Given the description of an element on the screen output the (x, y) to click on. 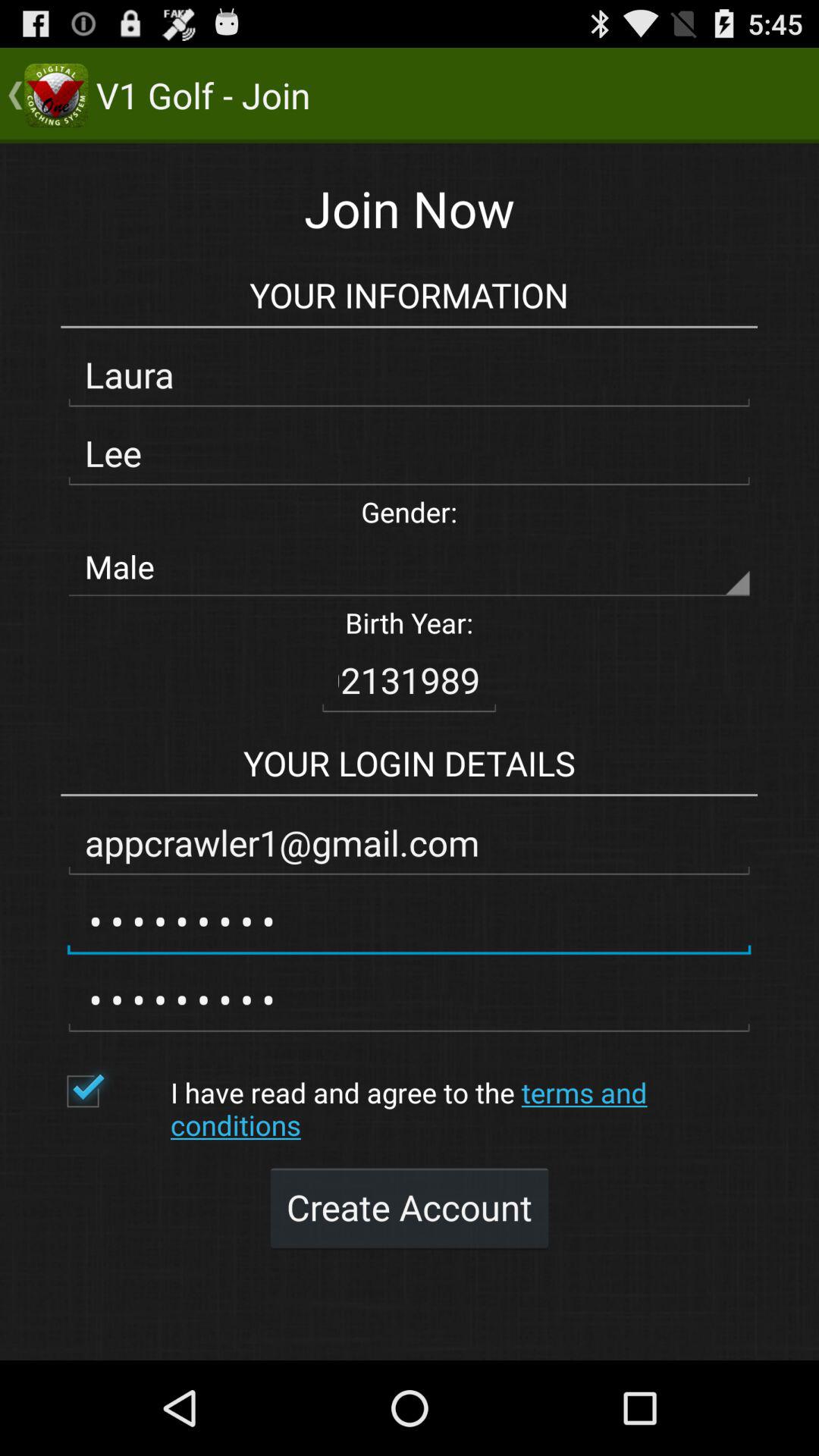
check to accept the terms (110, 1091)
